Given the description of an element on the screen output the (x, y) to click on. 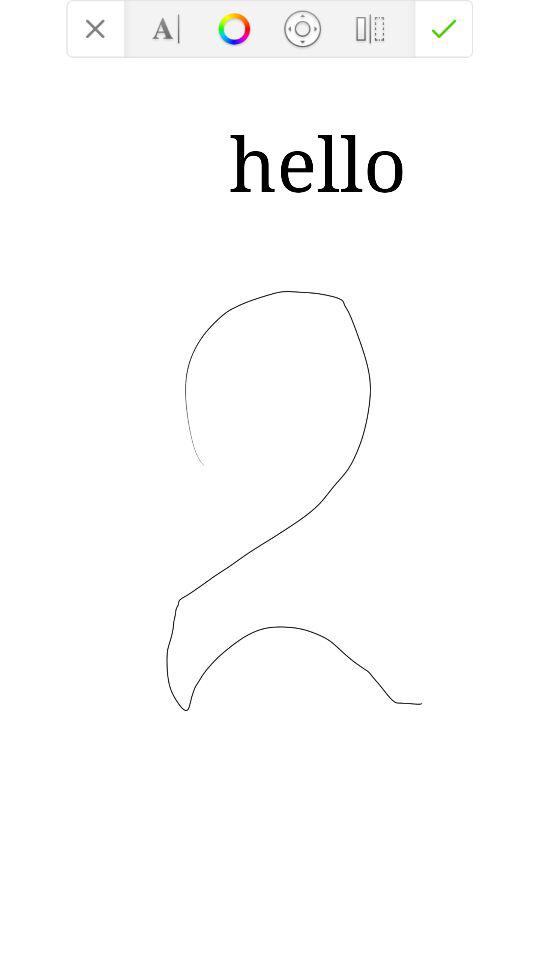
close option (95, 28)
